Given the description of an element on the screen output the (x, y) to click on. 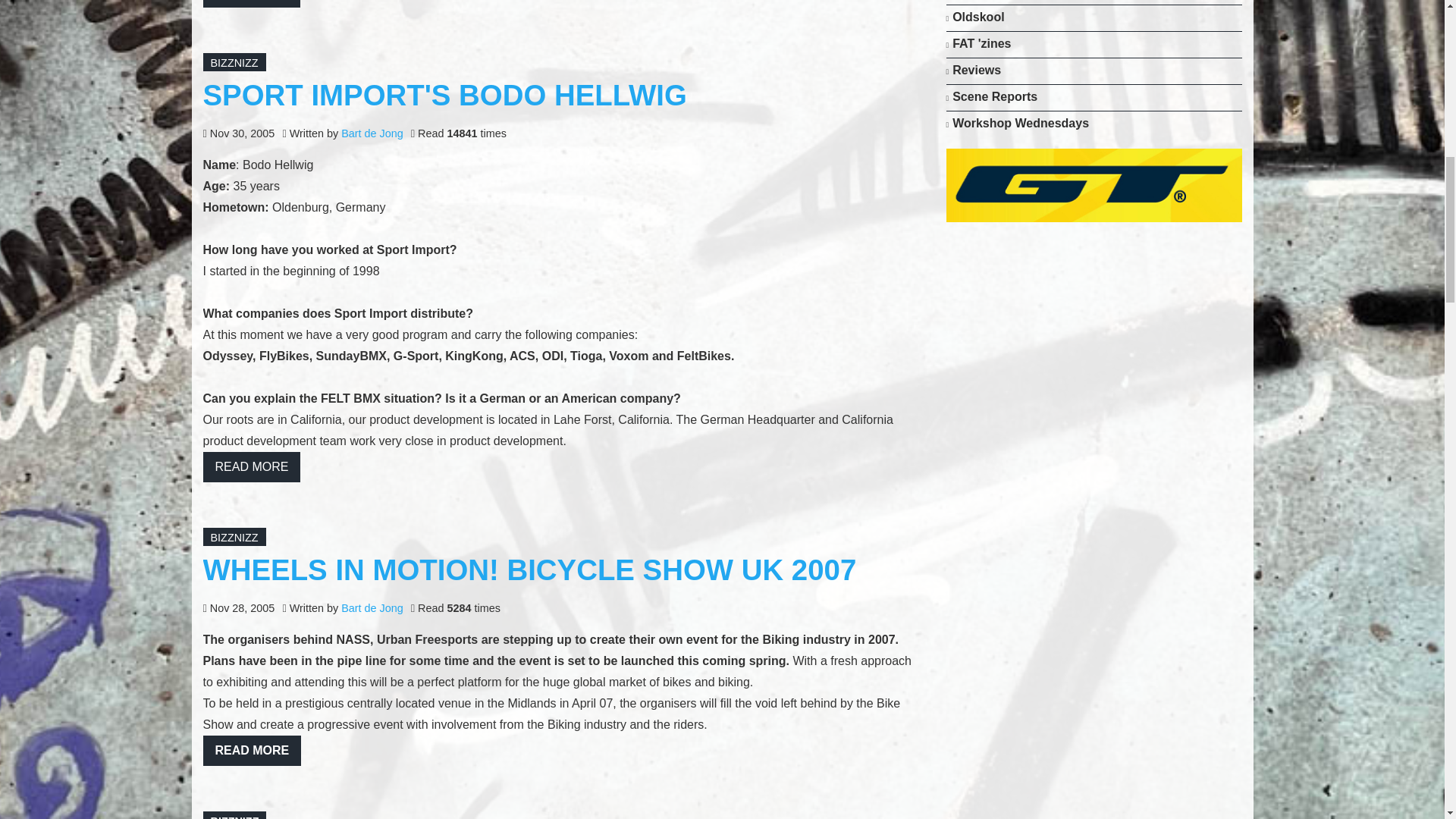
READ MORE (252, 3)
